Given the description of an element on the screen output the (x, y) to click on. 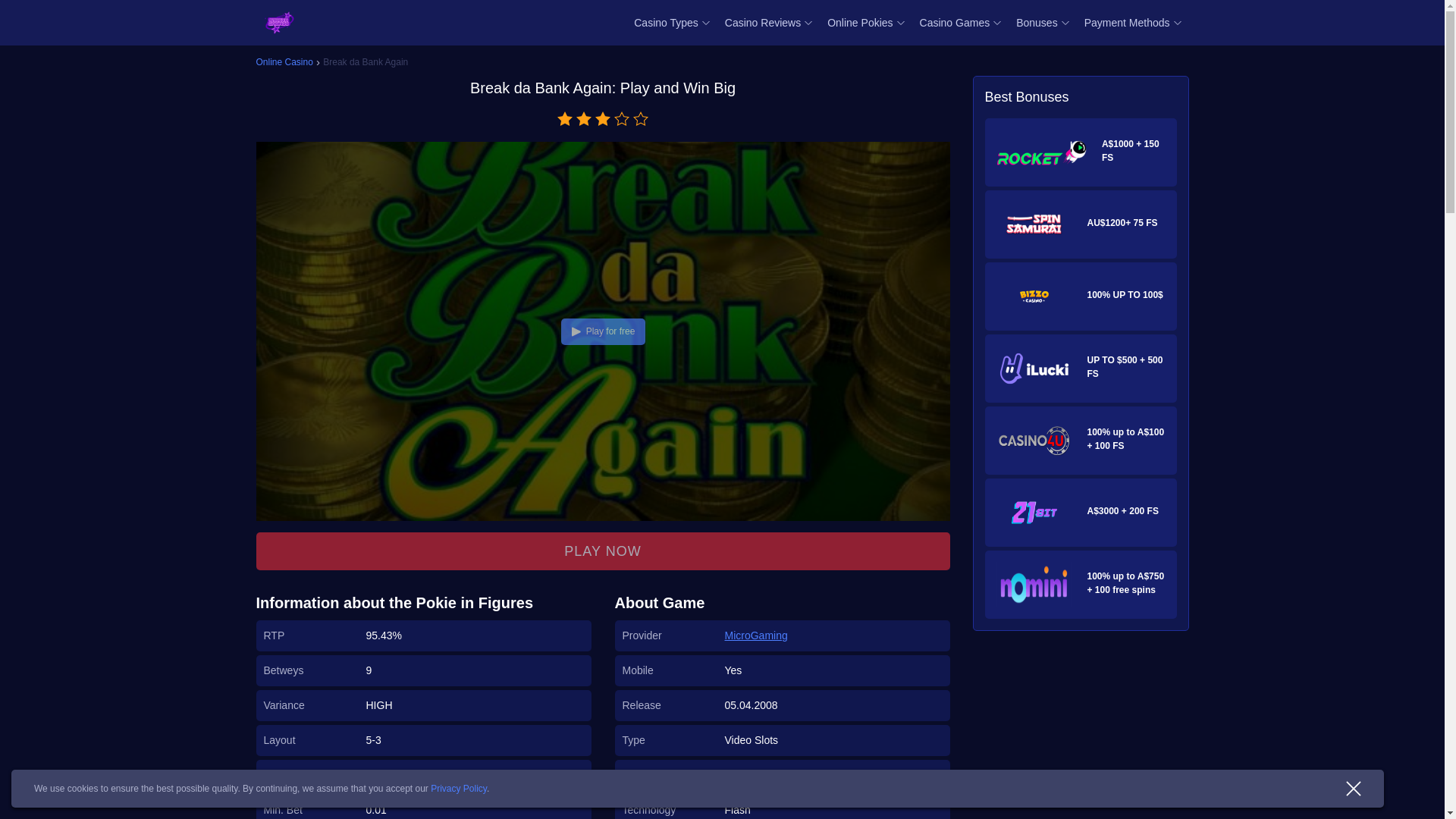
Bonuses (1036, 22)
Casino Games (955, 22)
Online Pokies (859, 22)
